Given the description of an element on the screen output the (x, y) to click on. 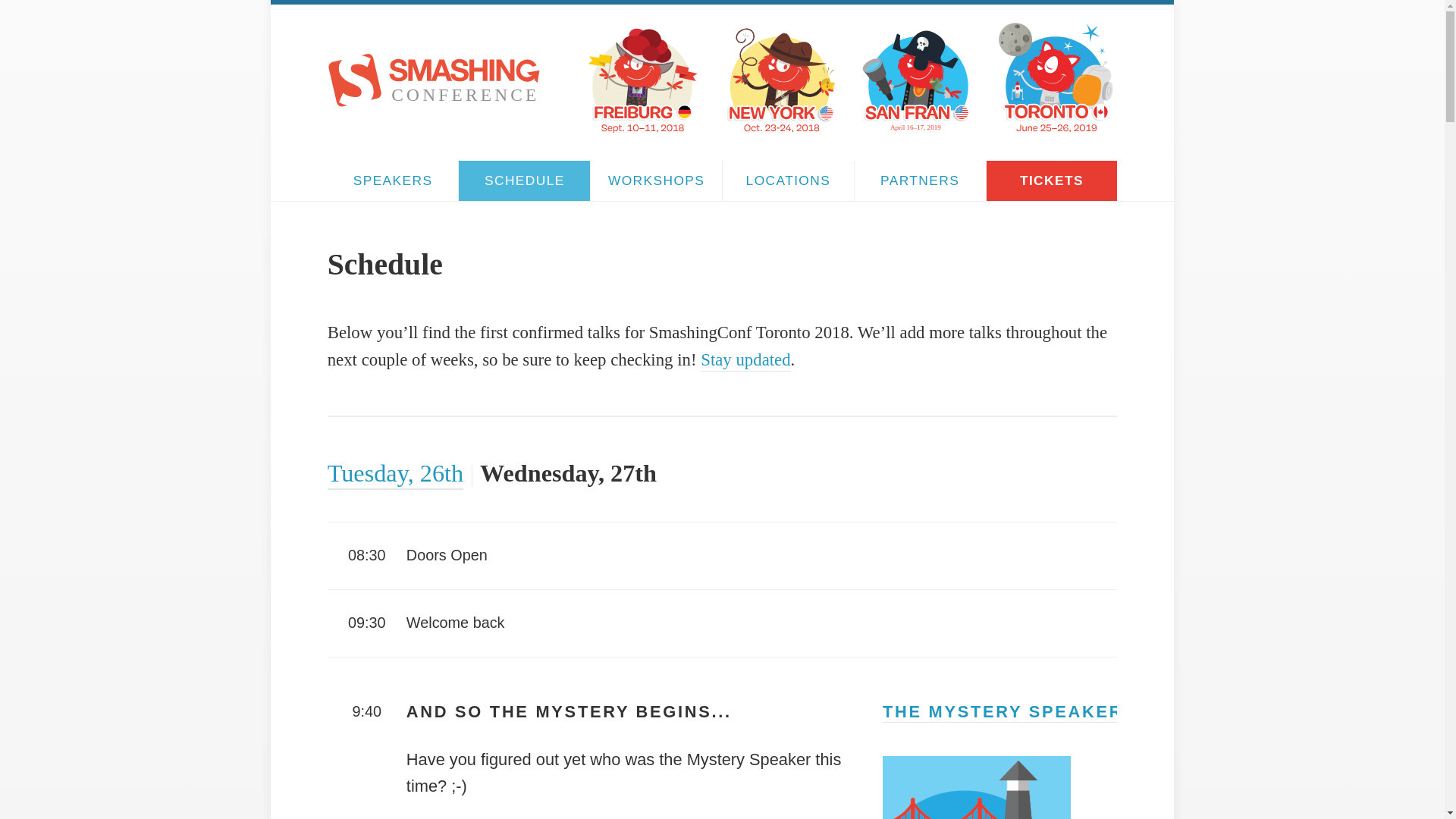
LOCATIONS (787, 179)
SCHEDULE (523, 179)
SPEAKERS (392, 179)
Tuesday, 26th (395, 472)
TICKETS (1052, 179)
PARTNERS (919, 179)
Return to the homepage (433, 101)
Stay updated (745, 358)
THE MYSTERY SPEAKER (1002, 710)
WORKSHOPS (656, 179)
